Given the description of an element on the screen output the (x, y) to click on. 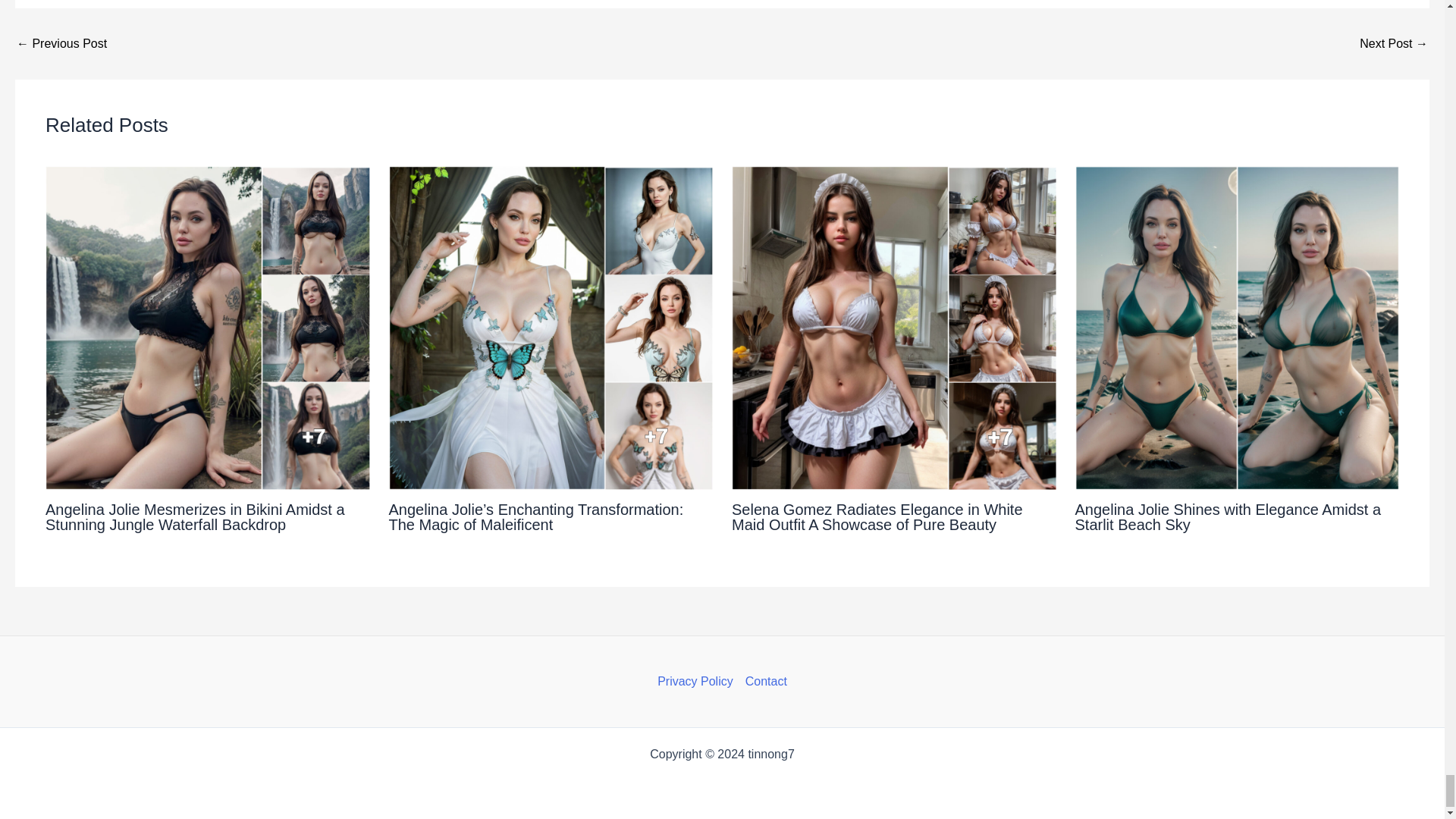
Privacy Policy (698, 681)
Contact (763, 681)
